Given the description of an element on the screen output the (x, y) to click on. 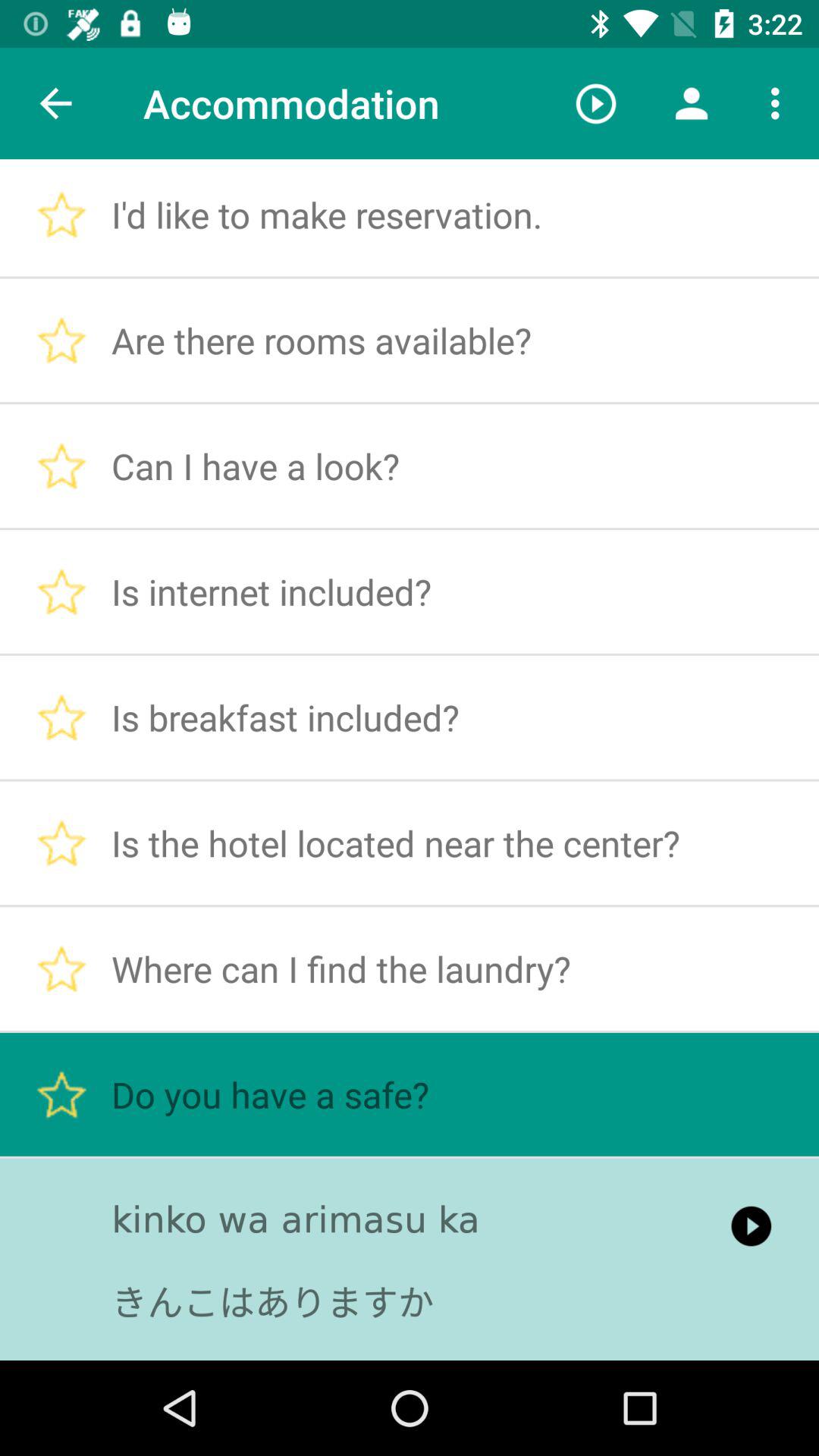
turn off item next to the accommodation item (55, 103)
